Given the description of an element on the screen output the (x, y) to click on. 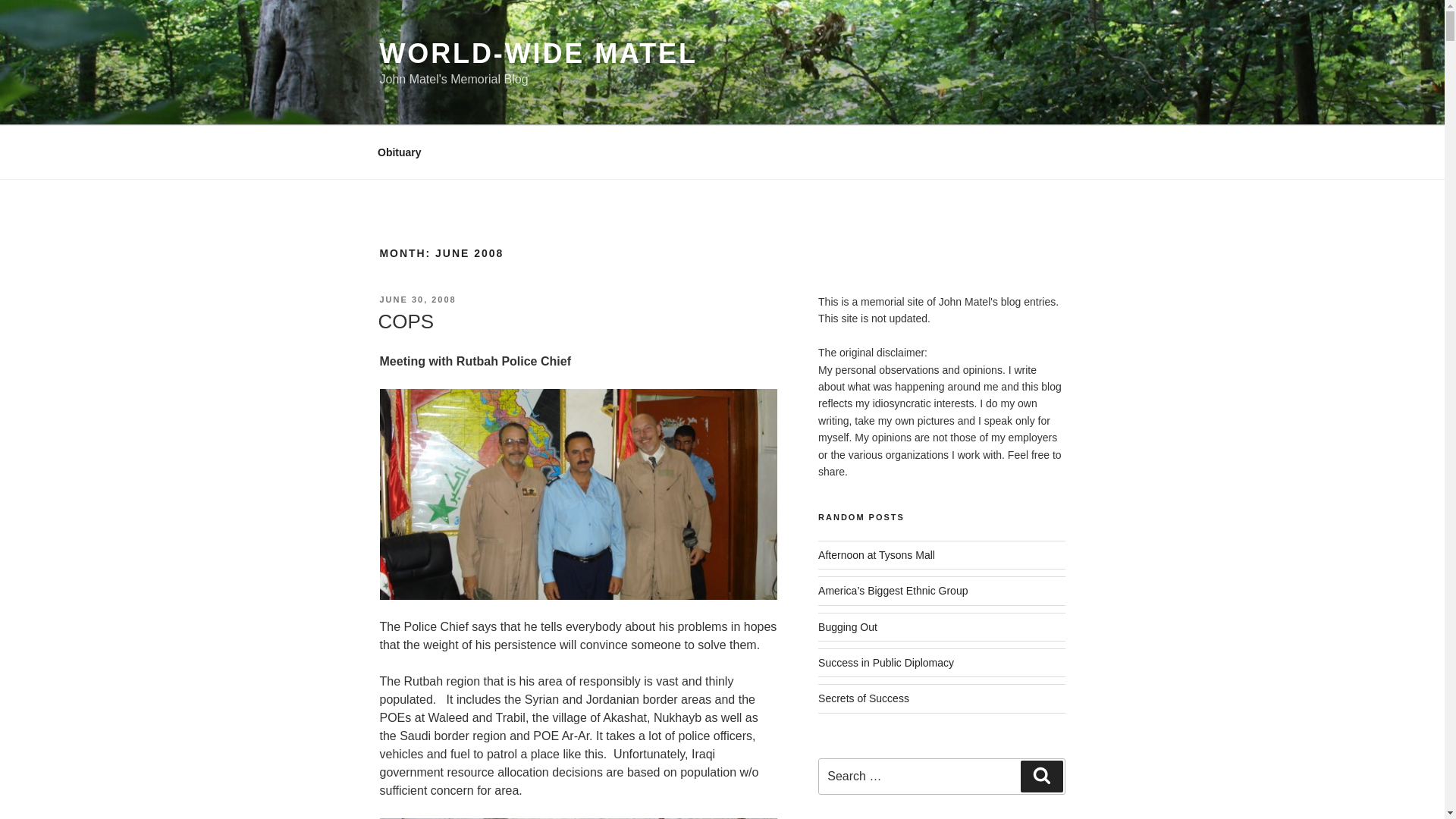
JUNE 30, 2008 (416, 298)
Afternoon at Tysons Mall (876, 554)
Search (1041, 776)
COPS (405, 321)
Obituary (398, 151)
WORLD-WIDE MATEL (537, 52)
Bugging Out (847, 626)
Success in Public Diplomacy (885, 662)
Secrets of Success (863, 698)
